Given the description of an element on the screen output the (x, y) to click on. 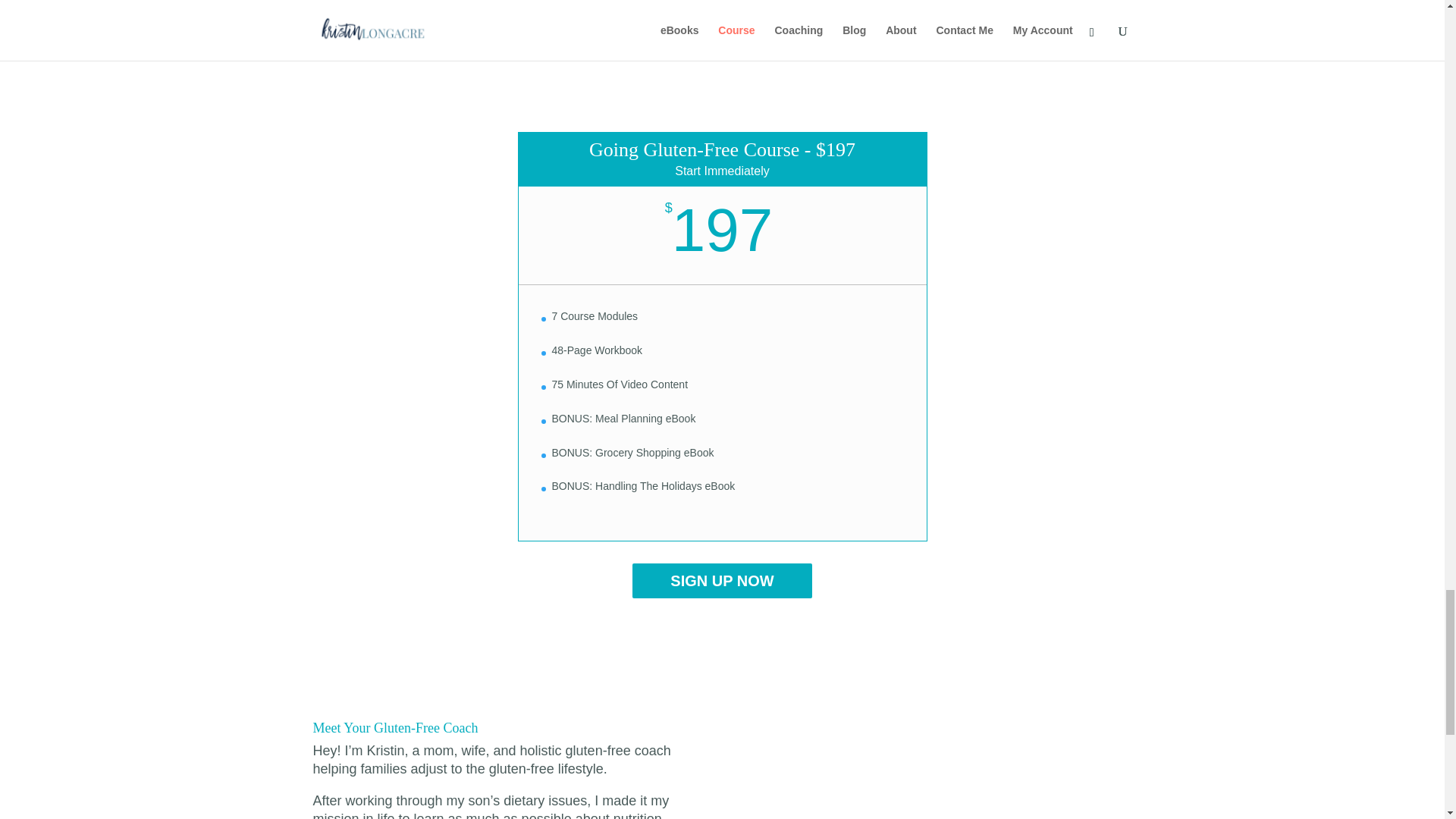
SIGN UP NOW (720, 580)
